Given the description of an element on the screen output the (x, y) to click on. 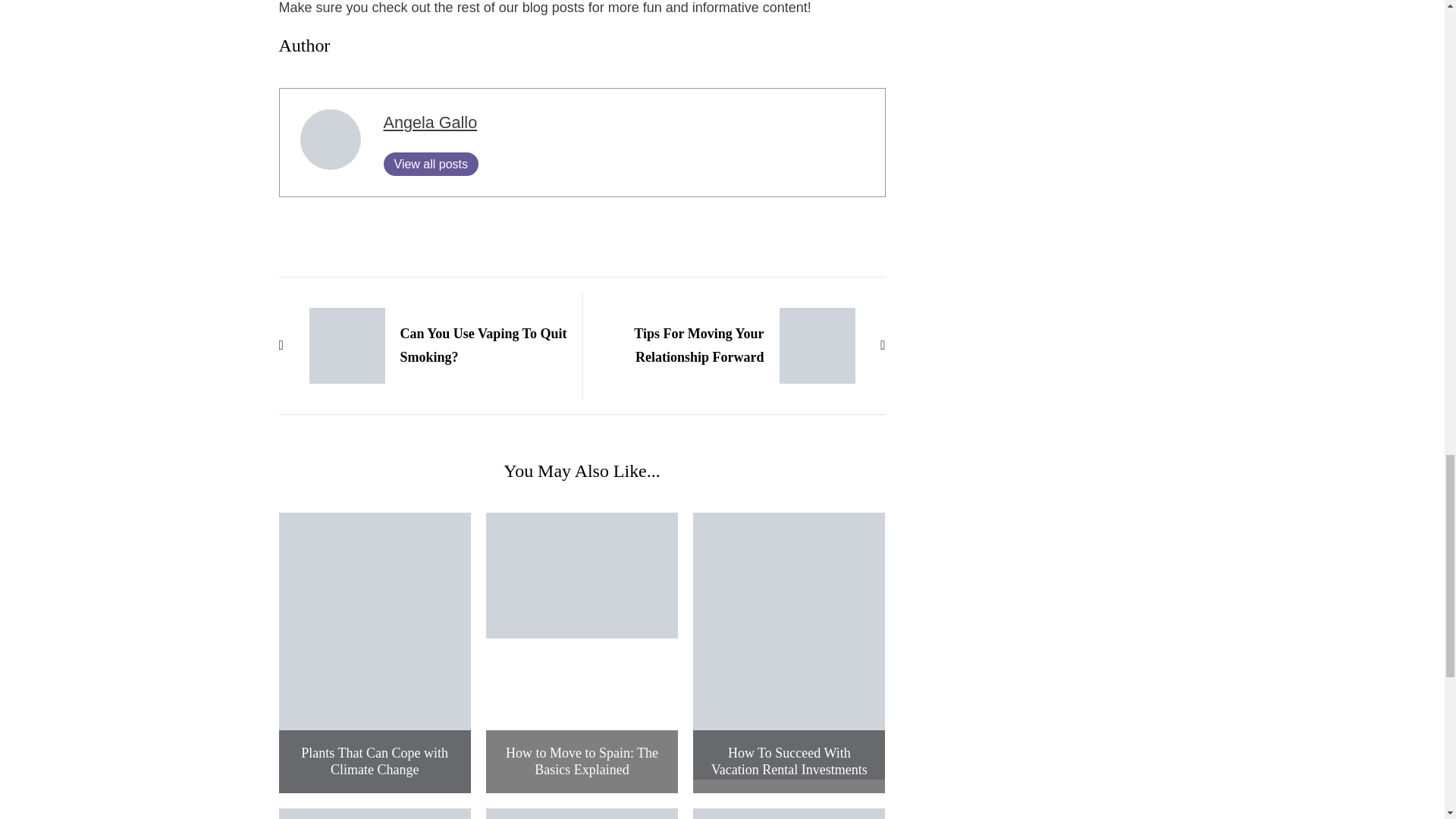
View all posts (431, 164)
Tips For Moving Your Relationship Forward (740, 345)
View all posts (431, 164)
How To Succeed With Vacation Rental Investments (788, 761)
Angela Gallo (430, 122)
How to Move to Spain: The Basics Explained (581, 761)
Plants That Can Cope with Climate Change (374, 761)
Angela Gallo (430, 122)
Can You Use Vaping To Quit Smoking? (423, 345)
